Given the description of an element on the screen output the (x, y) to click on. 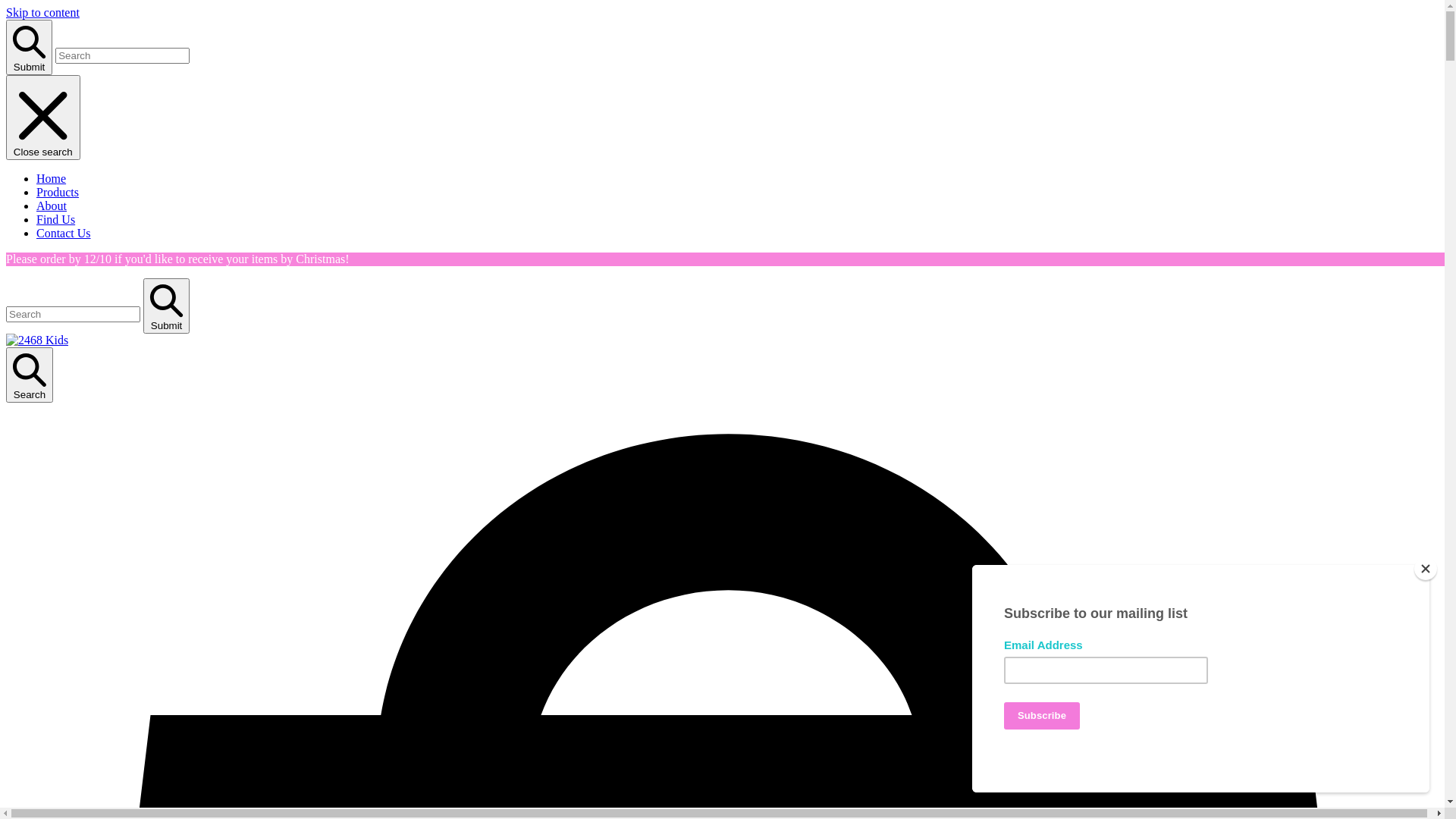
Submit Element type: text (29, 47)
Contact Us Element type: text (63, 232)
Find Us Element type: text (55, 219)
Home Element type: text (50, 178)
Close search Element type: text (43, 117)
Products Element type: text (57, 191)
About Element type: text (51, 205)
Search Element type: text (29, 375)
Skip to content Element type: text (42, 12)
Submit Element type: text (166, 305)
